Given the description of an element on the screen output the (x, y) to click on. 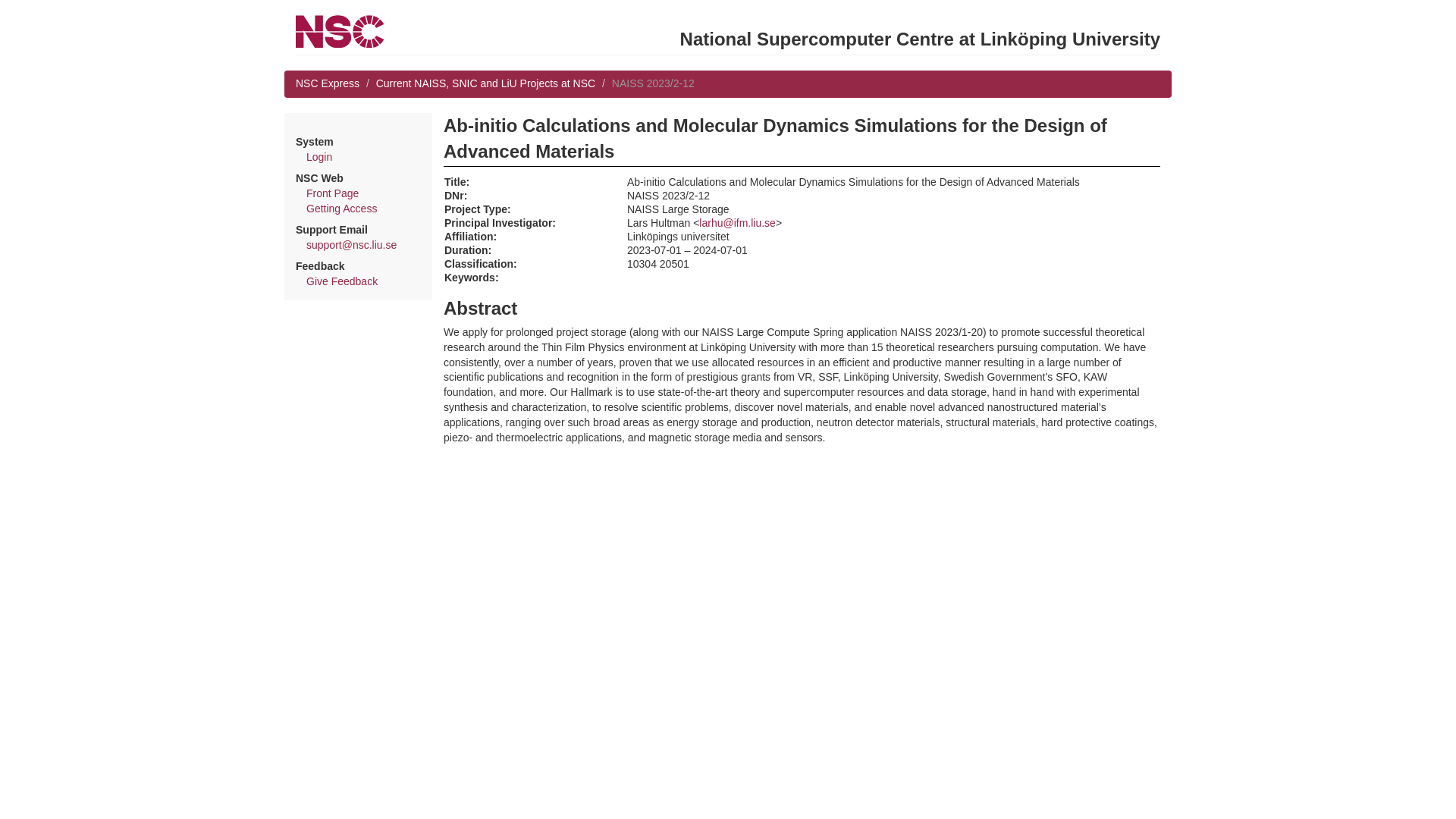
Front Page (331, 193)
Login (318, 156)
Getting Access (341, 208)
Give Feedback (341, 281)
NSC Express (327, 82)
Current NAISS, SNIC and LiU Projects at NSC (485, 82)
